Given the description of an element on the screen output the (x, y) to click on. 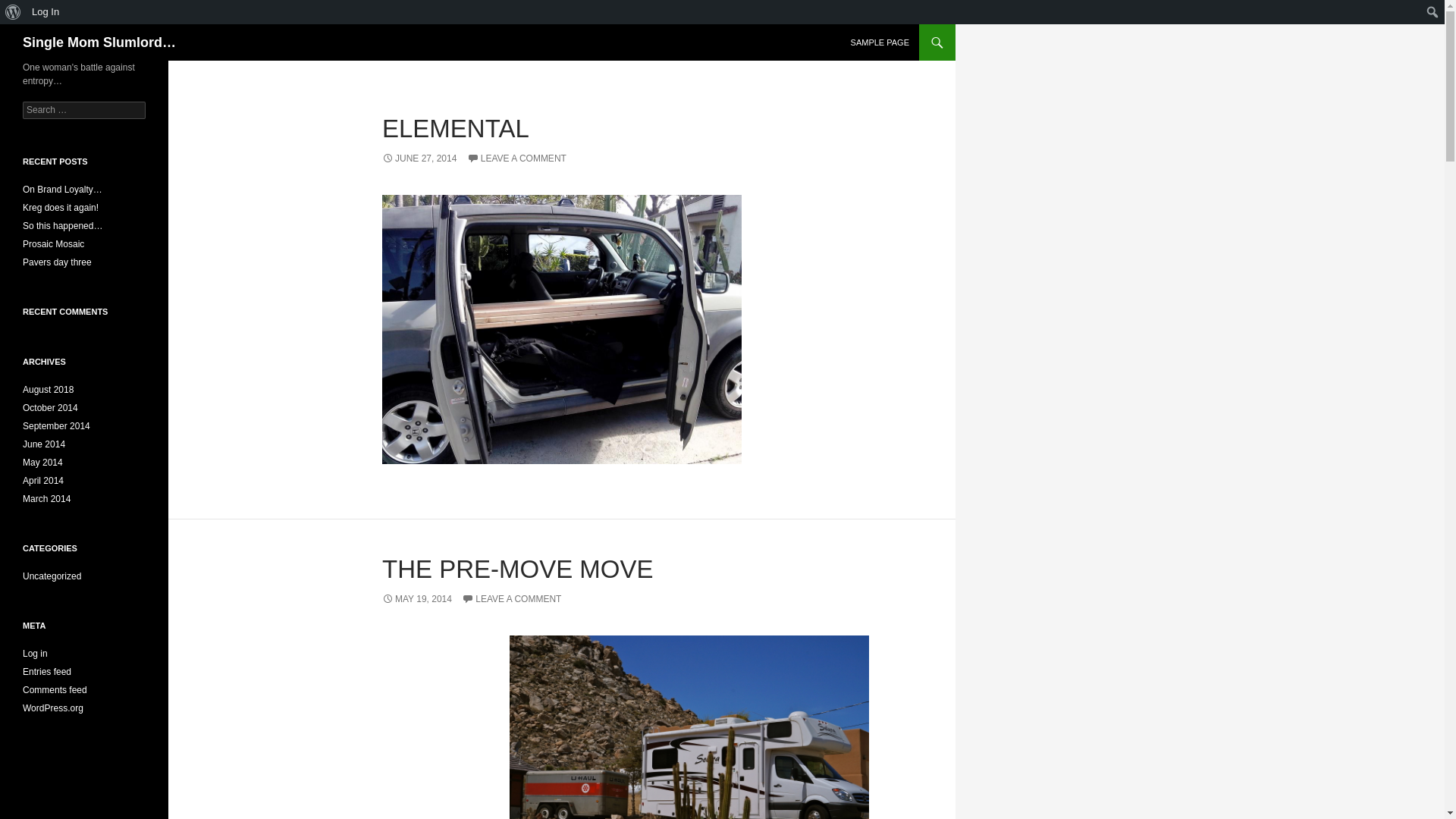
LEAVE A COMMENT (510, 598)
MAY 19, 2014 (416, 598)
LEAVE A COMMENT (516, 158)
THE PRE-MOVE MOVE (517, 569)
SAMPLE PAGE (879, 42)
JUNE 27, 2014 (419, 158)
ELEMENTAL (455, 128)
